Given the description of an element on the screen output the (x, y) to click on. 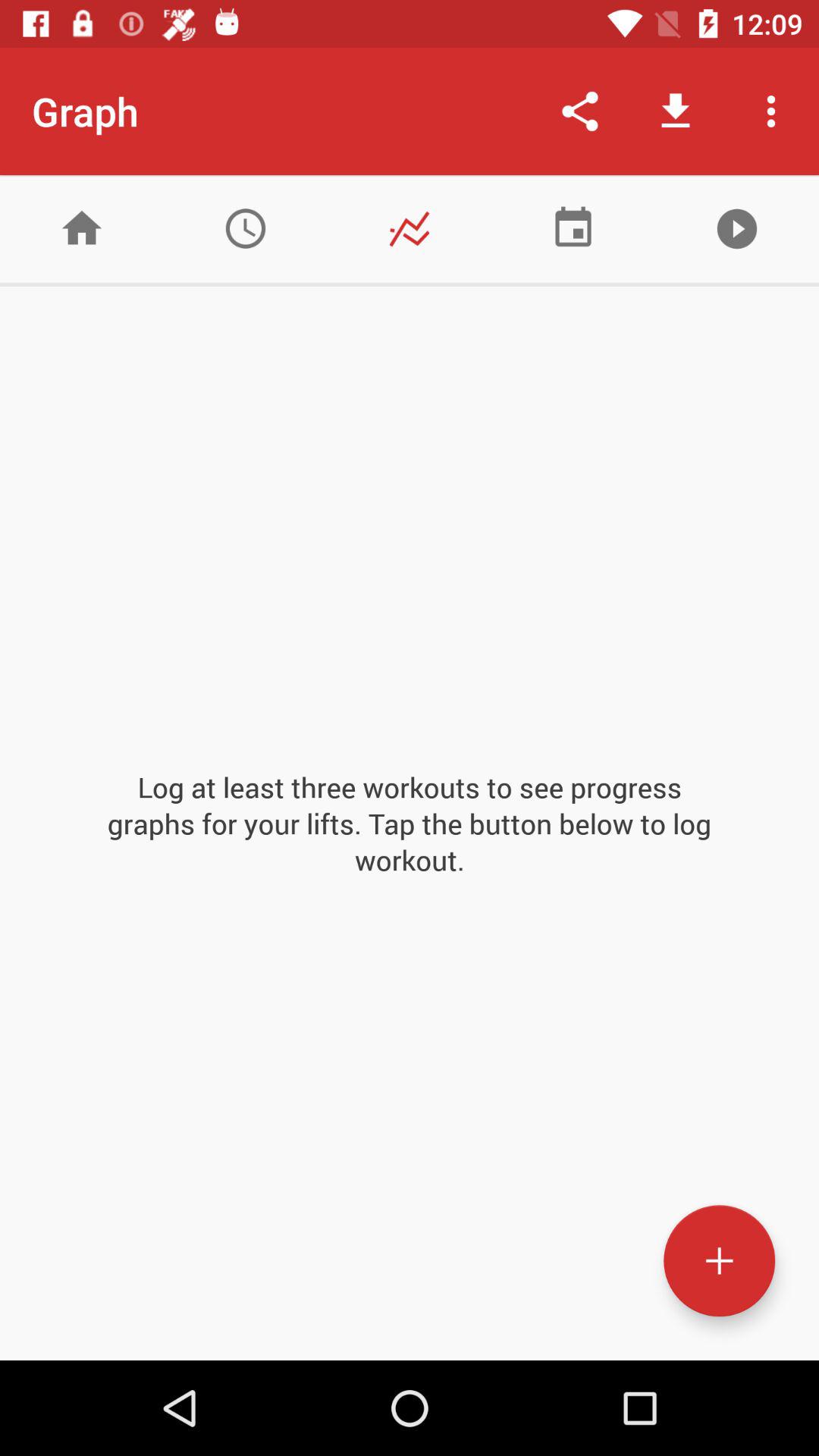
view calendar (573, 228)
